Given the description of an element on the screen output the (x, y) to click on. 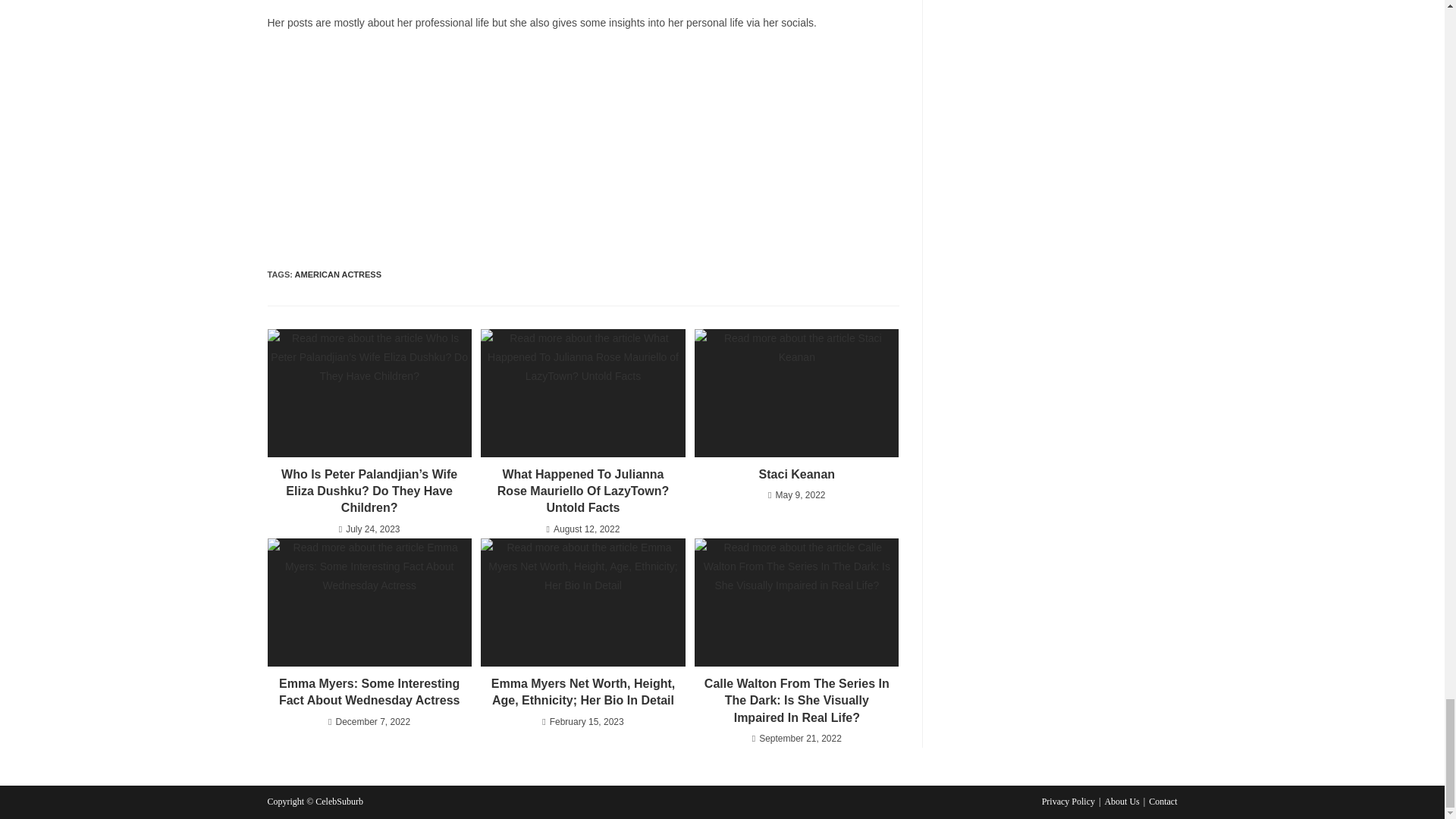
Emma Myers: Some Interesting Fact About Wednesday Actress (368, 692)
AMERICAN ACTRESS (338, 274)
Staci Keanan (796, 474)
